Given the description of an element on the screen output the (x, y) to click on. 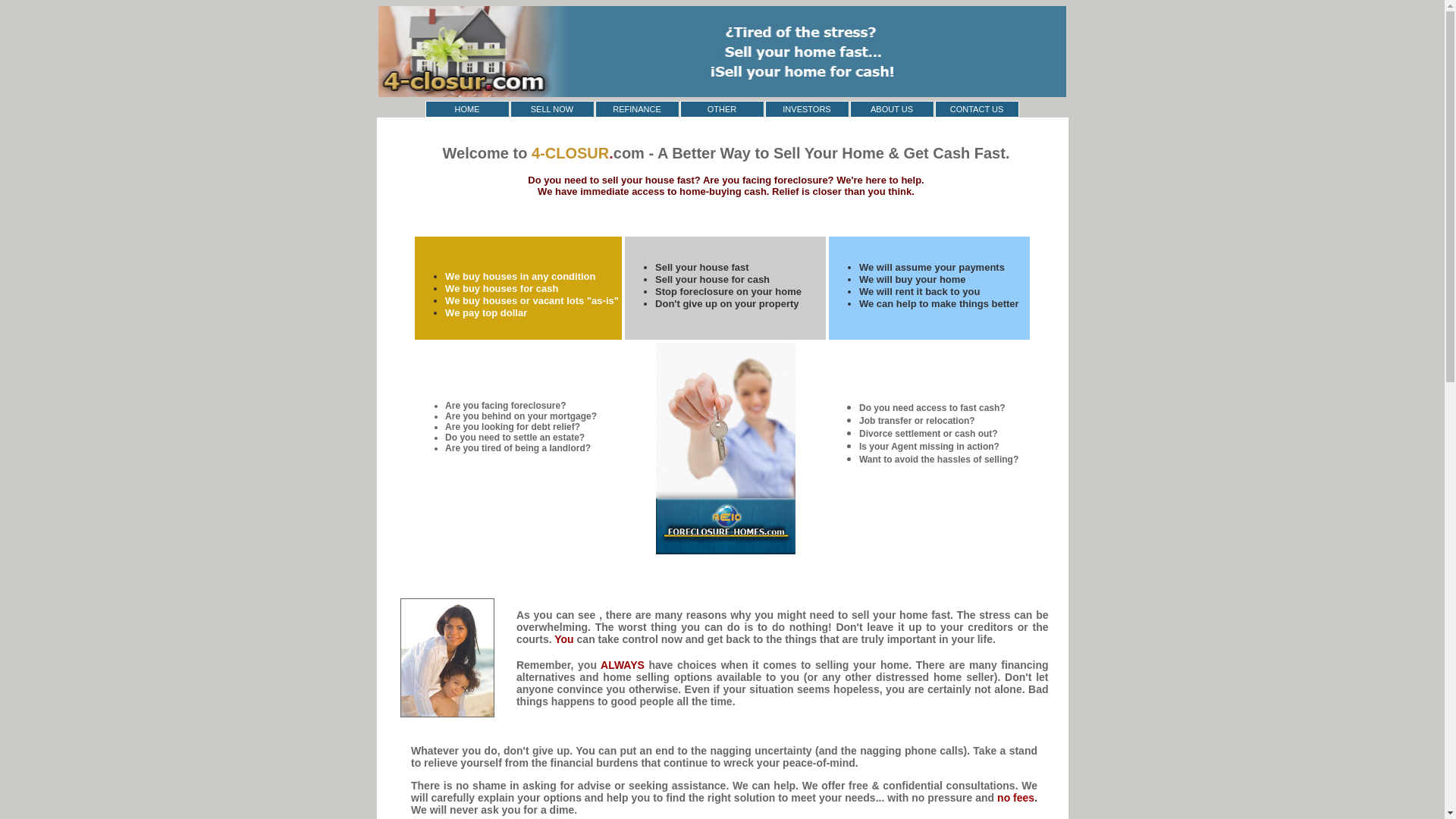
SELL NOW Element type: text (551, 108)
REFINANCE Element type: text (636, 108)
OTHER RESOURCES Element type: text (721, 108)
HOME Element type: text (466, 108)
INVESTORS Element type: text (806, 108)
ABOUT US Element type: text (891, 108)
CONTACT US Element type: text (976, 108)
